Given the description of an element on the screen output the (x, y) to click on. 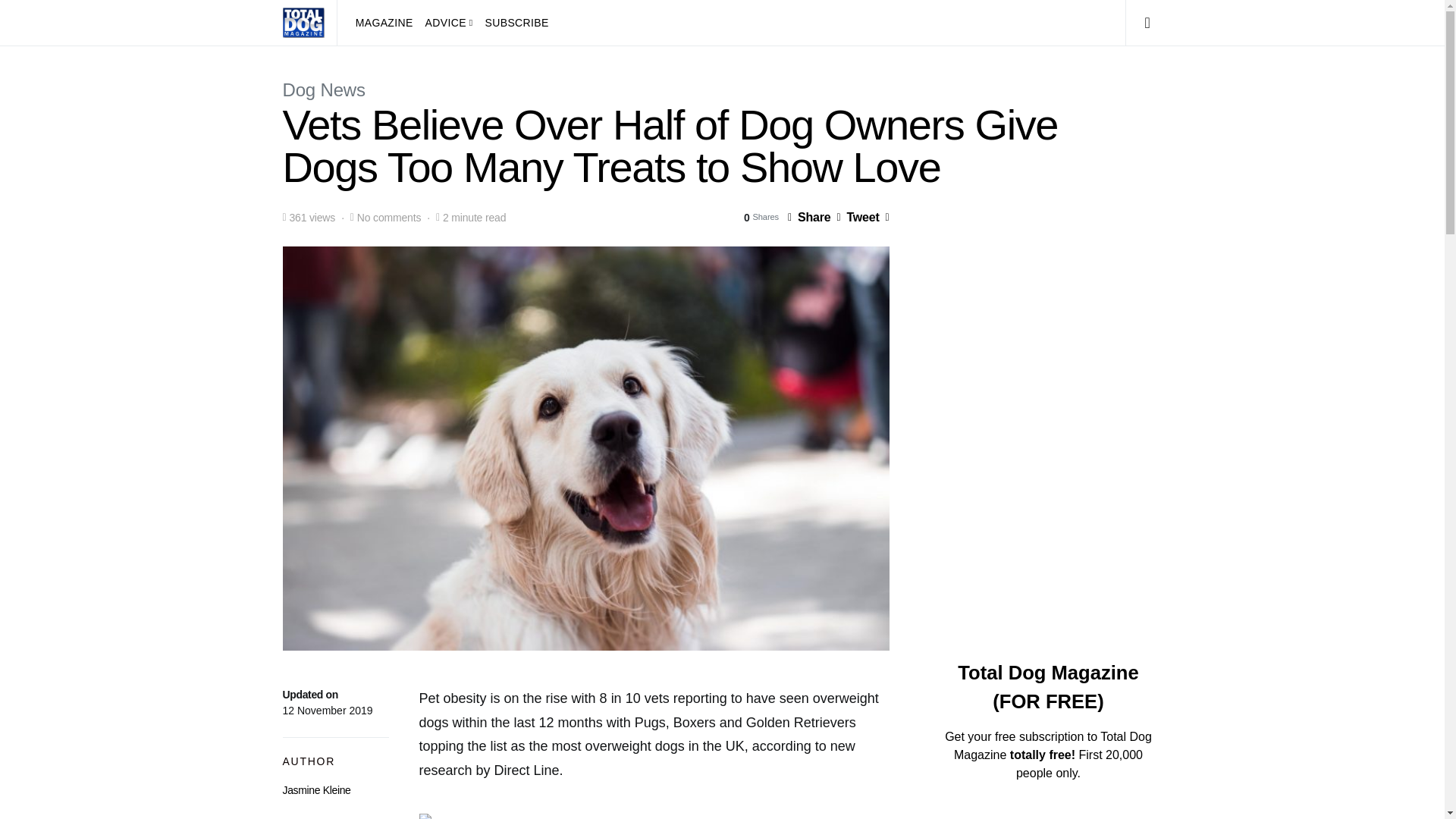
Jasmine Kleine (316, 789)
Share (808, 216)
No comments (388, 217)
Dog News (323, 89)
Dog Magazine (387, 22)
Dog Advice (449, 22)
Subscribe to Total Dog Magazine for FREE (513, 22)
SUBSCRIBE (513, 22)
ADVICE (449, 22)
Tweet (857, 216)
